Given the description of an element on the screen output the (x, y) to click on. 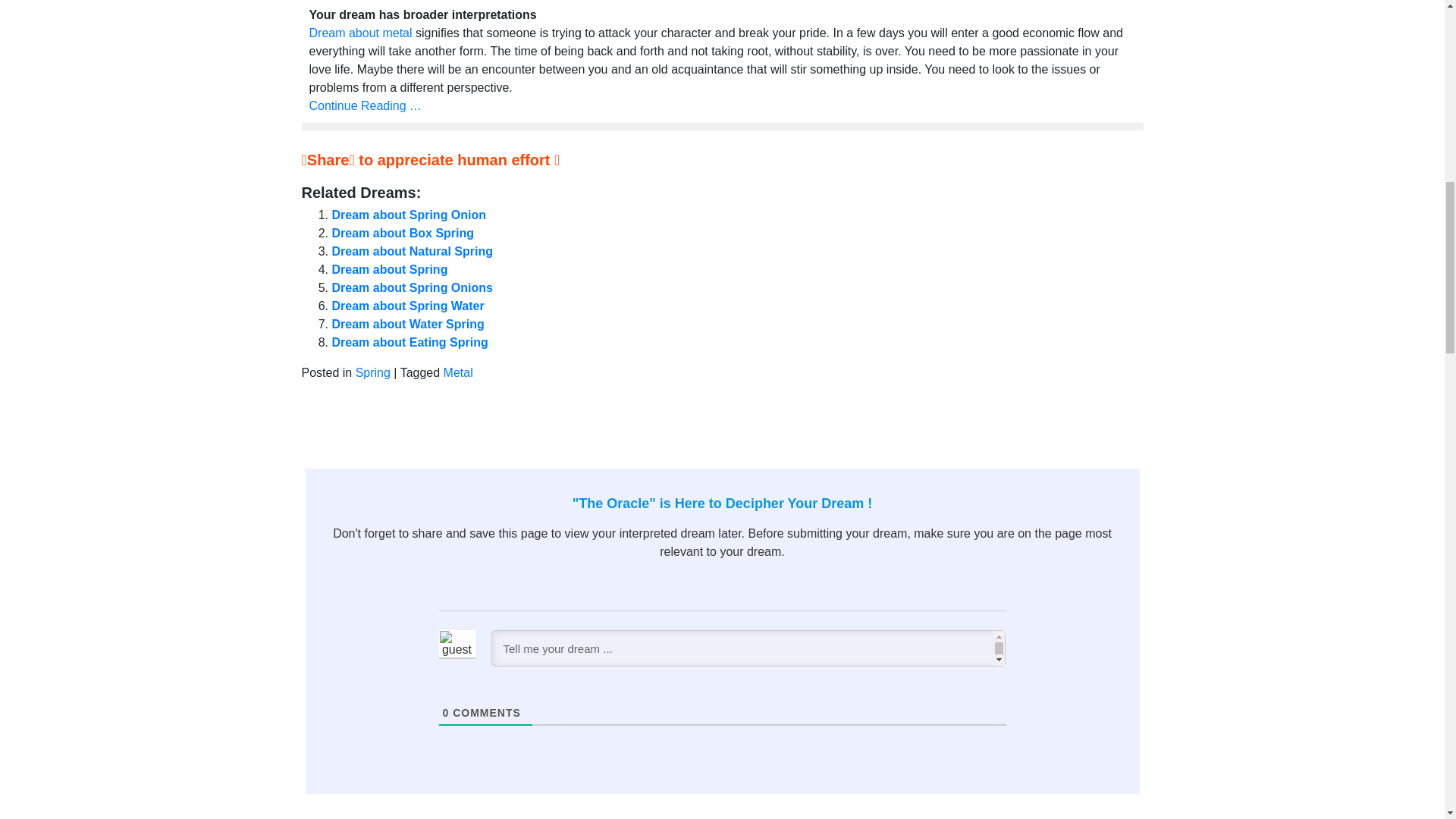
Dream about Water Spring (407, 323)
Dream about metal (360, 32)
Dream about Spring Onion (408, 214)
Dream about Spring (389, 269)
Dream about Natural Spring (412, 250)
Dream about Eating Spring (409, 341)
Dream about Natural Spring (412, 250)
Dream about Spring (389, 269)
Dream about Eating Spring (409, 341)
Dream about Spring Water (407, 305)
Dream about Water Spring (407, 323)
Dream about Spring Onions (412, 287)
Dream about Spring Onion (408, 214)
Dream about Box Spring (402, 232)
Dream about Box Spring (402, 232)
